Given the description of an element on the screen output the (x, y) to click on. 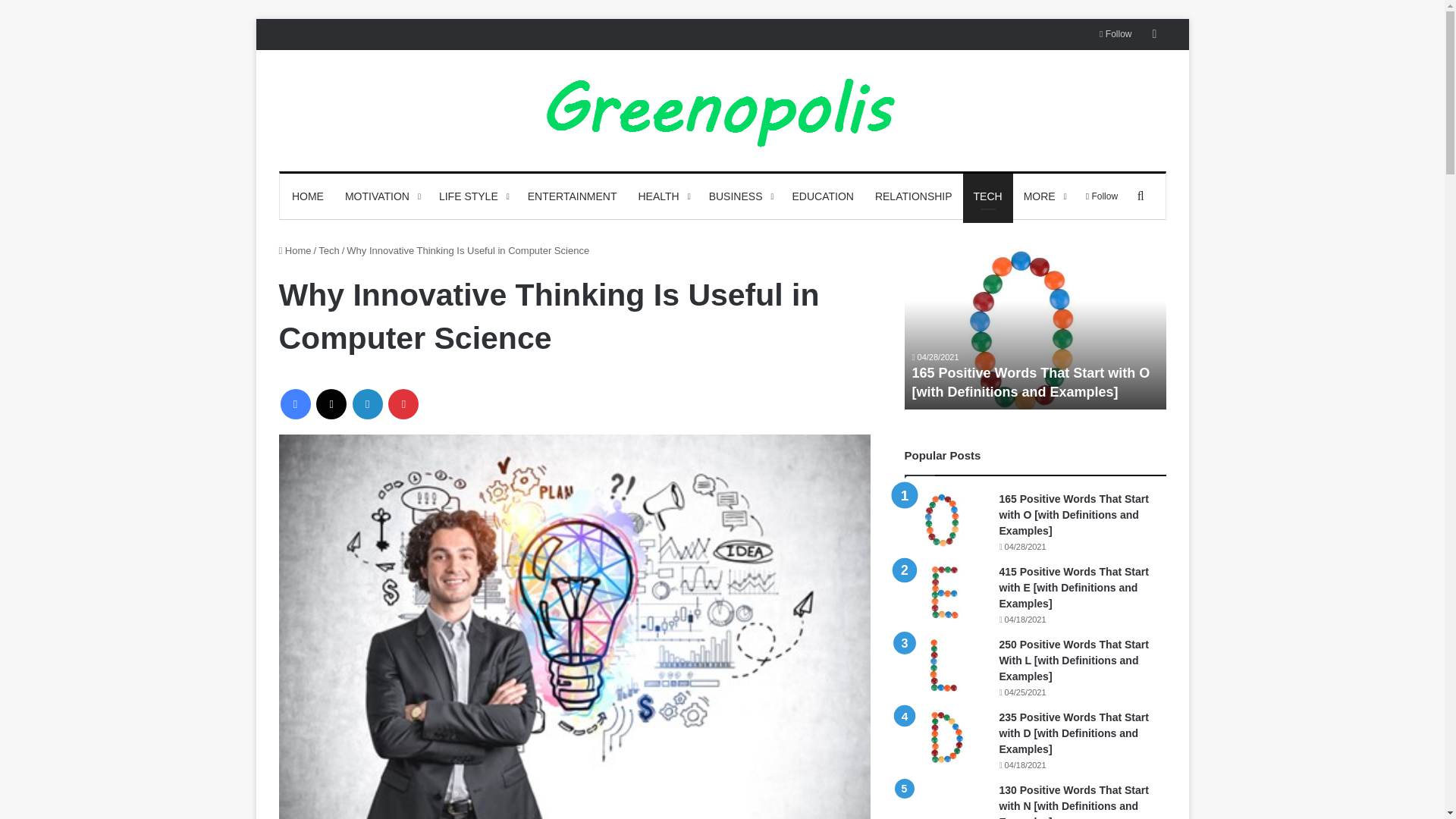
HEALTH (662, 196)
Pinterest (403, 404)
ENTERTAINMENT (571, 196)
HOME (307, 196)
LinkedIn (367, 404)
Follow (1114, 33)
X (330, 404)
LIFE STYLE (472, 196)
MOTIVATION (381, 196)
Facebook (296, 404)
